Given the description of an element on the screen output the (x, y) to click on. 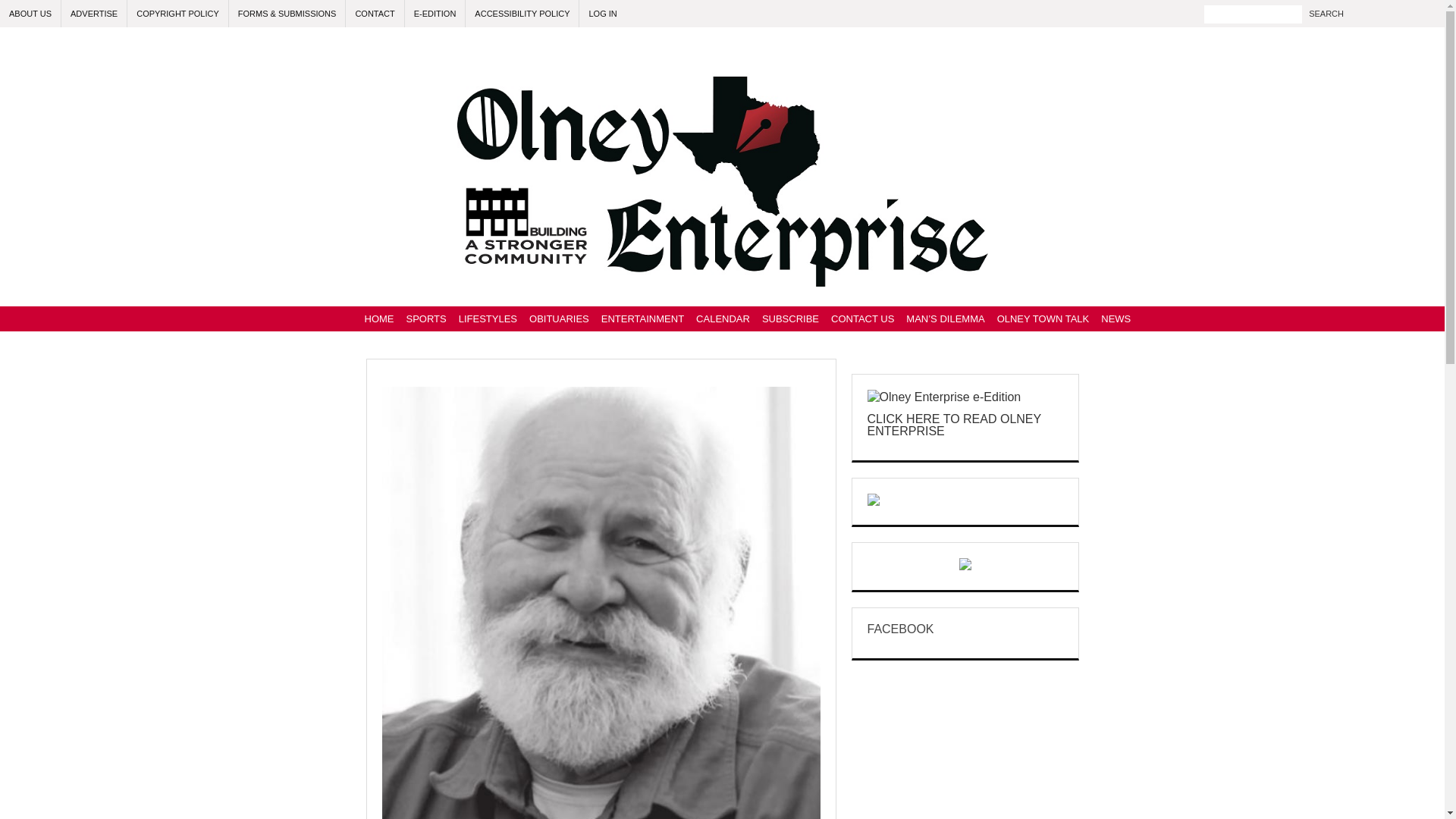
Obituaries (558, 318)
CALENDAR (722, 318)
CONTACT (375, 13)
Sports (426, 318)
LIfestyles (487, 318)
Log In (602, 13)
ADVERTISE (94, 13)
ENTERTAINMENT (642, 318)
NEWS (1115, 318)
LIFESTYLES (487, 318)
CONTACT US (862, 318)
OLNEY TOWN TALK (1043, 318)
ACCESSIBILITY POLICY (522, 13)
Search (1326, 13)
